Given the description of an element on the screen output the (x, y) to click on. 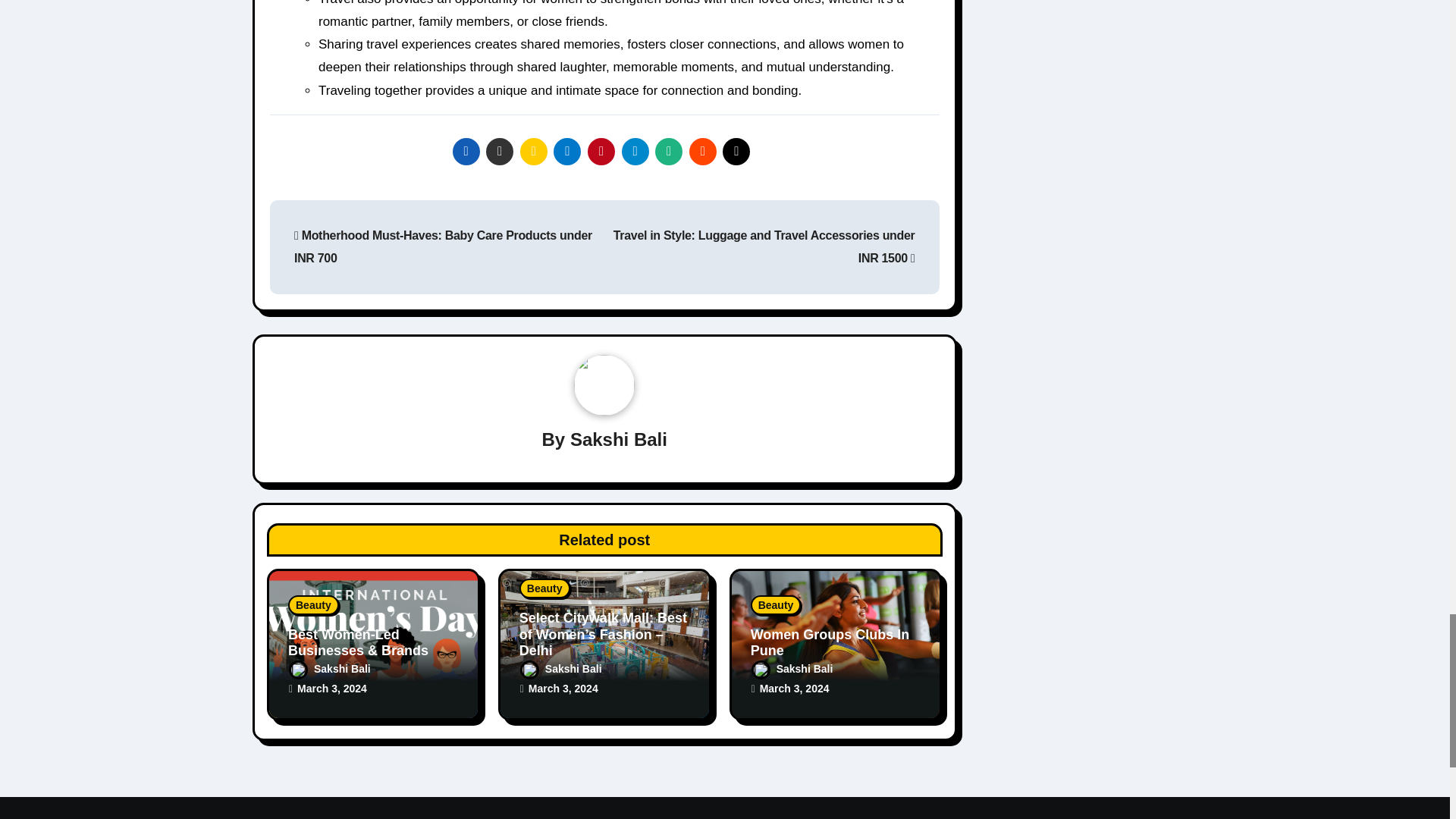
Motherhood Must-Haves: Baby Care Products under INR 700 (443, 246)
Beauty (313, 605)
Sakshi Bali (618, 439)
Permalink to: Women Groups Clubs In Pune (830, 643)
